Given the description of an element on the screen output the (x, y) to click on. 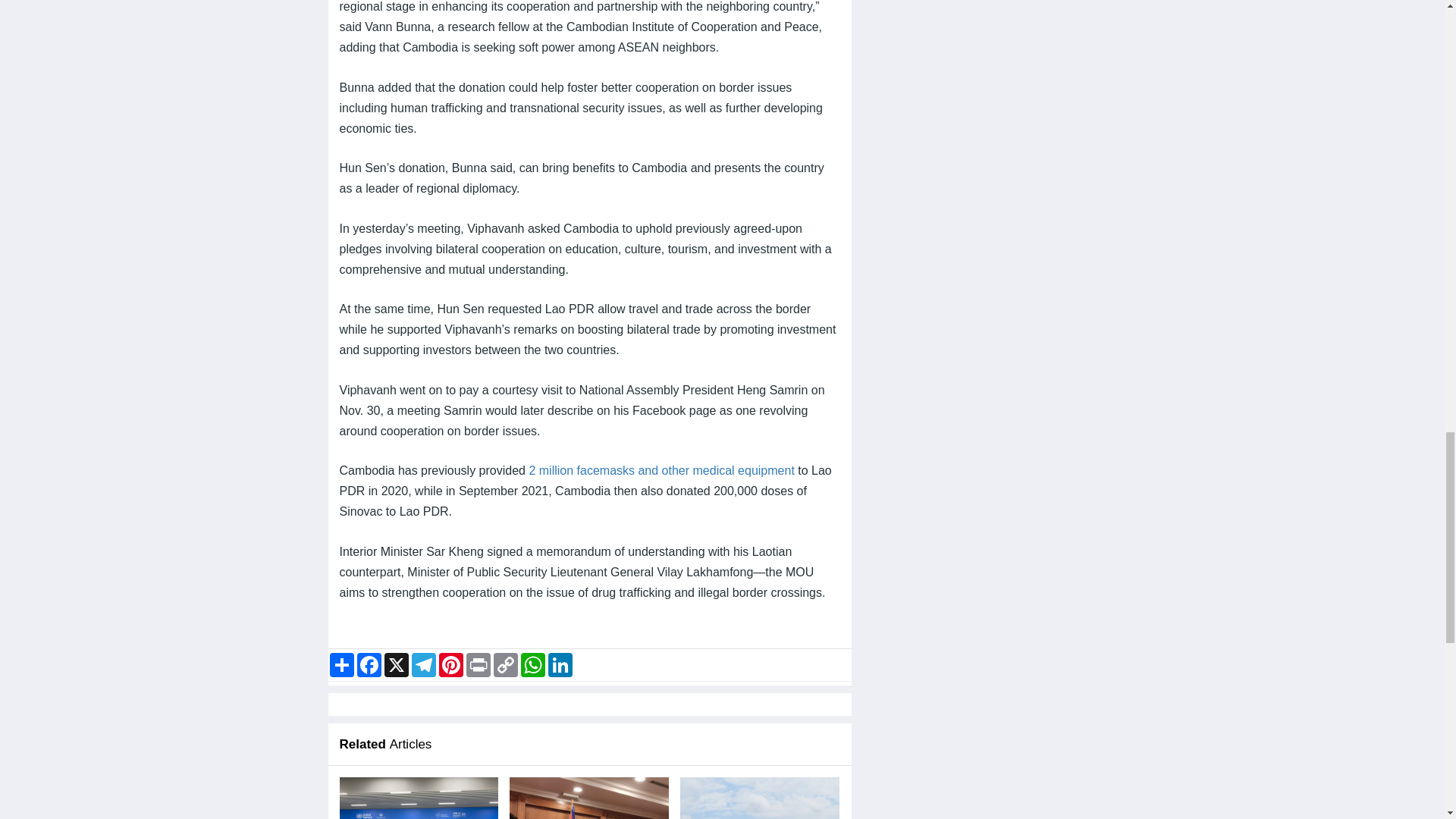
Key UN biodiversity summit to open in China (419, 798)
2 million facemasks and other medical equipment (660, 470)
Newly formed CNLP Party urges Govt to "Respect Human Rights" (588, 798)
